Given the description of an element on the screen output the (x, y) to click on. 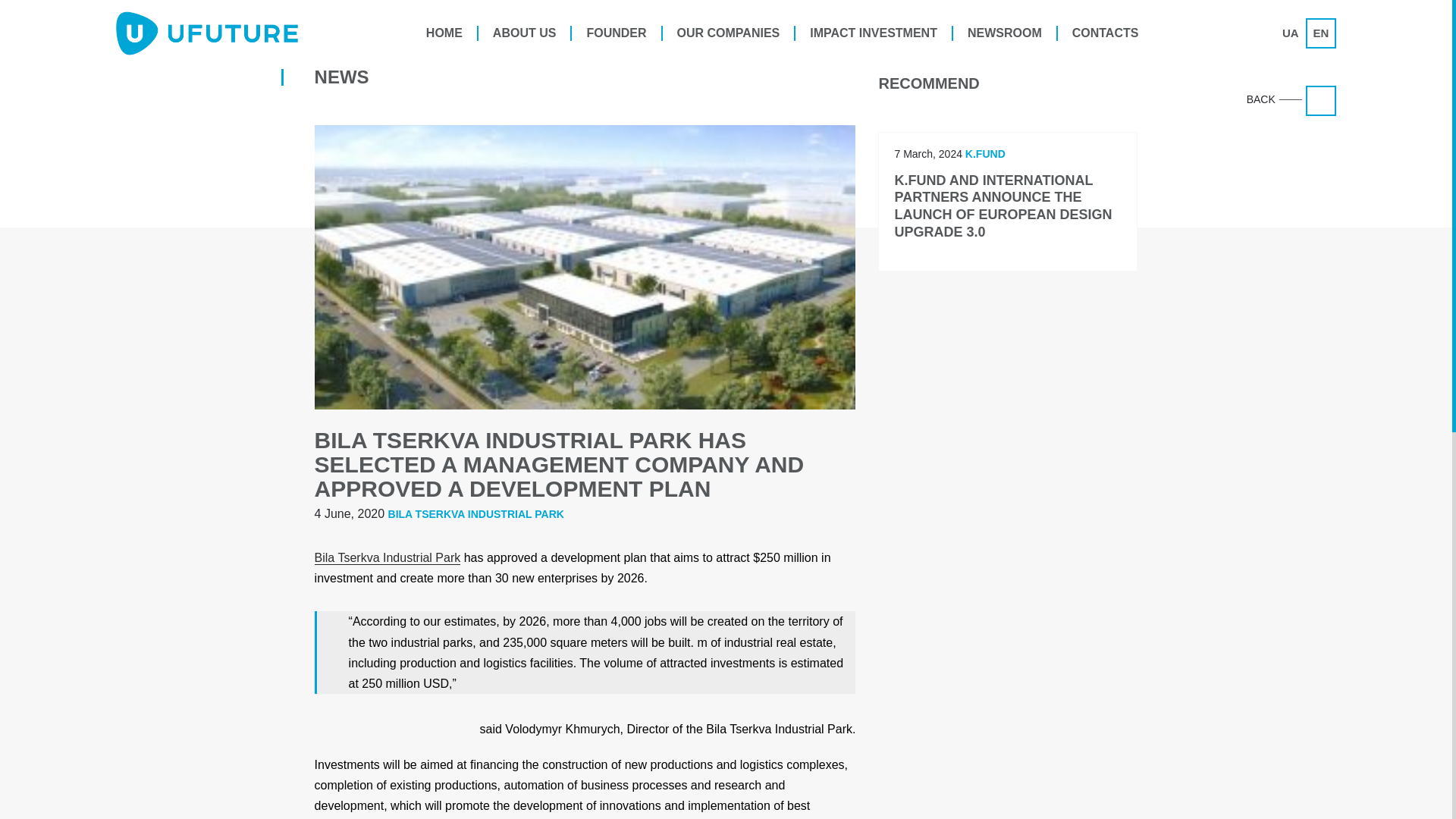
ABOUT US (525, 32)
NEWS (341, 76)
HOME (445, 32)
Bila Tserkva Industrial Park (387, 558)
BILA TSERKVA INDUSTRIAL PARK (476, 513)
UA (1290, 32)
BACK (1321, 100)
NEWSROOM (1005, 32)
CONTACTS (1105, 32)
